Given the description of an element on the screen output the (x, y) to click on. 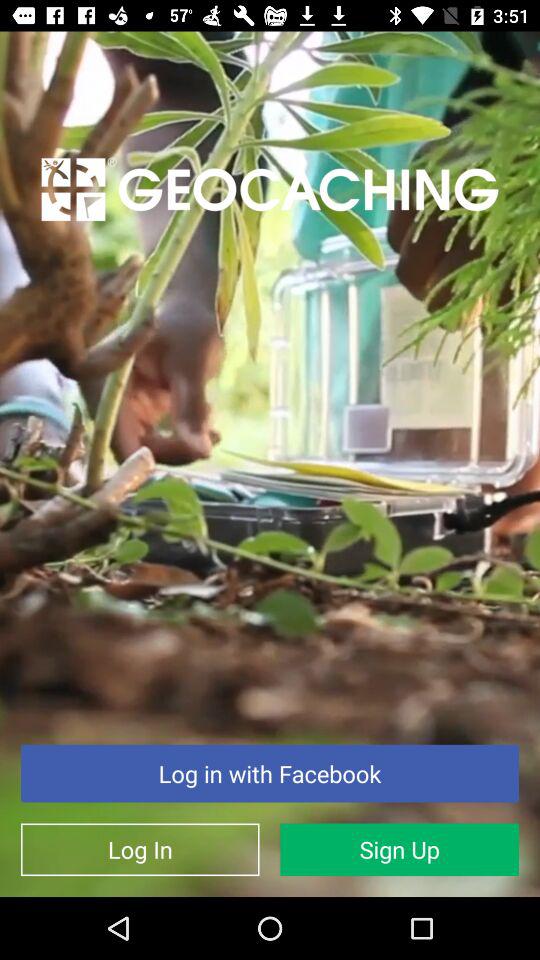
press the icon next to the log in item (399, 849)
